Given the description of an element on the screen output the (x, y) to click on. 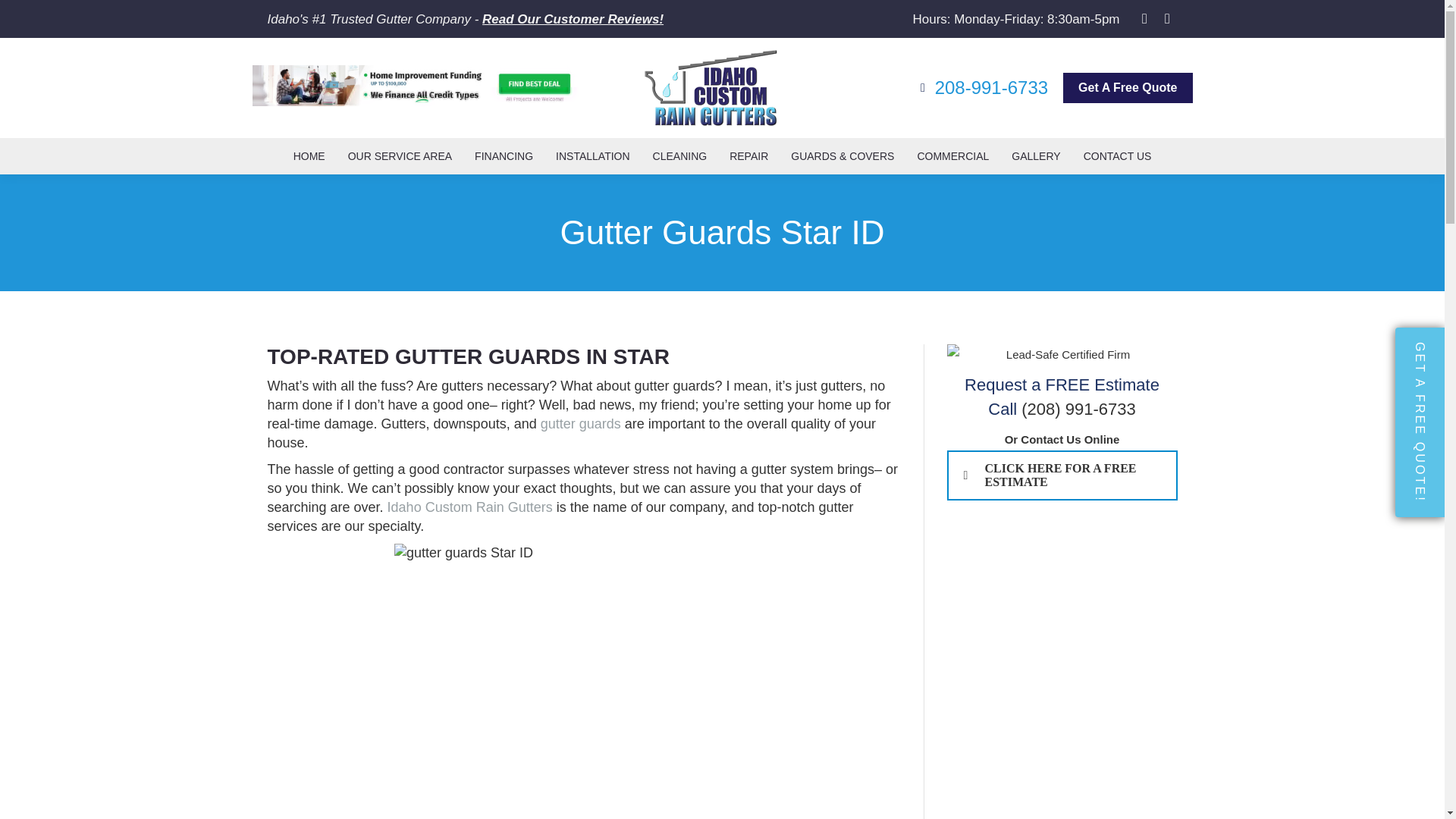
FINANCING (503, 156)
Read Our Customer Reviews! (572, 19)
HOME (309, 156)
208-991-6733 (981, 87)
Mail page opens in new window (1167, 18)
Mail page opens in new window (1167, 18)
OUR SERVICE AREA (399, 156)
Facebook page opens in new window (1144, 18)
CONTACT US (1117, 156)
INSTALLATION (593, 156)
CLEANING (680, 156)
REPAIR (747, 156)
COMMERCIAL (952, 156)
GALLERY (1035, 156)
Get A Free Quote (1127, 87)
